Given the description of an element on the screen output the (x, y) to click on. 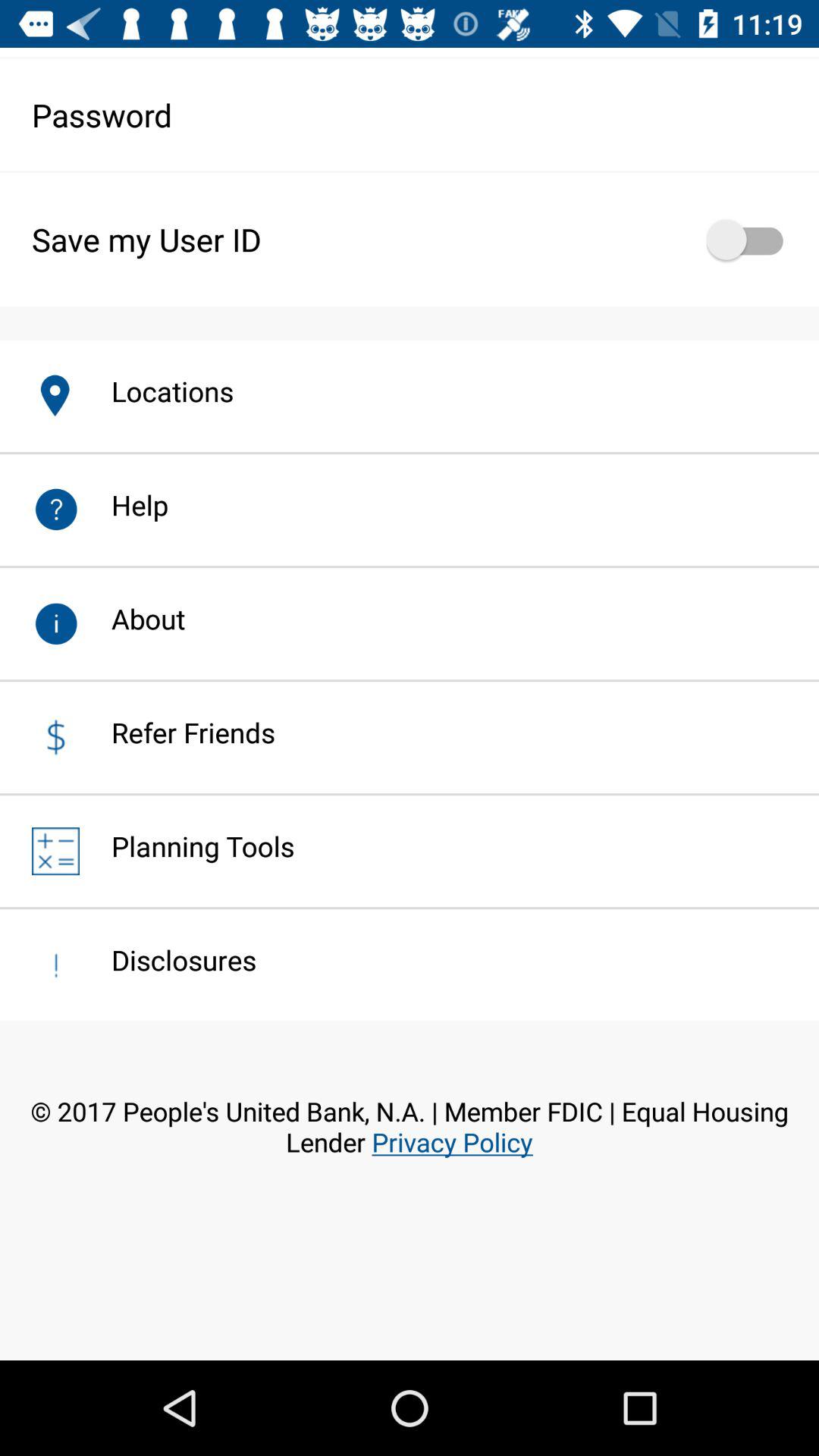
turn off locations item (156, 391)
